Given the description of an element on the screen output the (x, y) to click on. 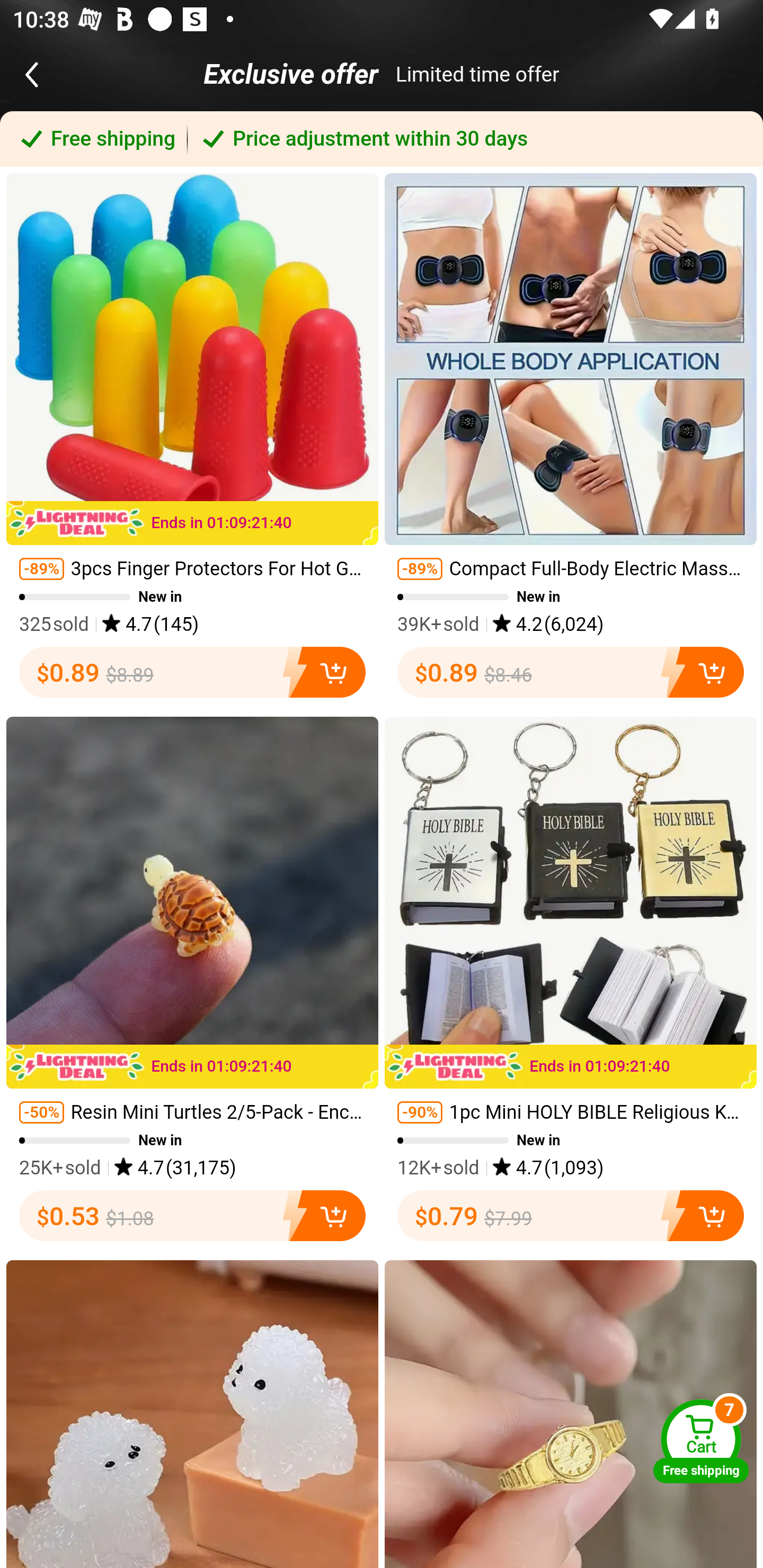
Free shipping (94, 138)
Price adjustment within 30 days (475, 138)
$0.89 $8.89 (192, 671)
$0.89 $8.46 (570, 671)
$0.53 $1.08 (192, 1215)
$0.79 $7.99 (570, 1215)
Cart Free shipping Cart (701, 1440)
